Given the description of an element on the screen output the (x, y) to click on. 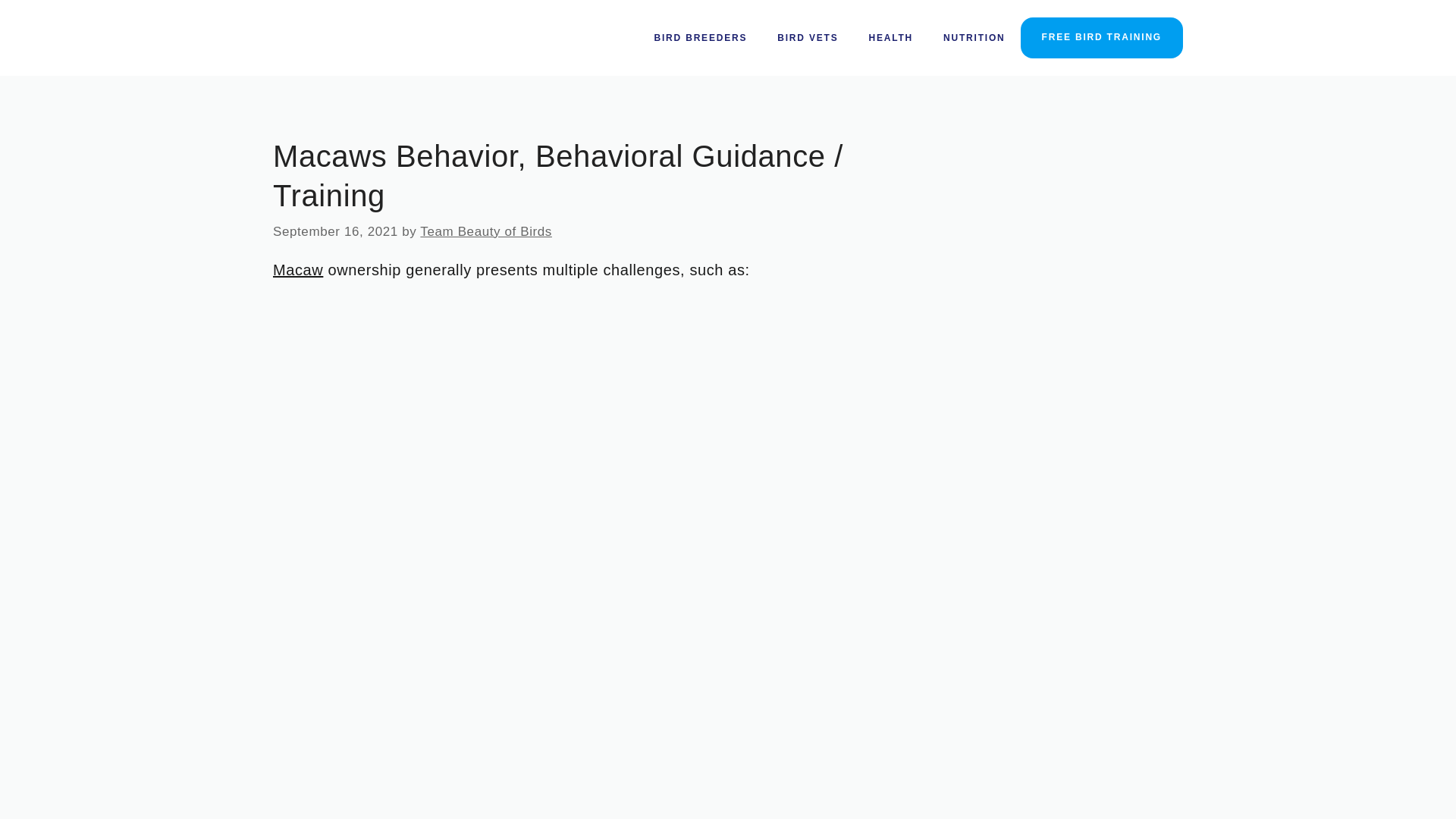
Macaw (298, 269)
NUTRITION (974, 37)
FREE BIRD TRAINING (1101, 37)
BIRD BREEDERS (700, 37)
View all posts by Team Beauty of Birds (485, 231)
BIRD VETS (807, 37)
HEALTH (890, 37)
Team Beauty of Birds (485, 231)
